Given the description of an element on the screen output the (x, y) to click on. 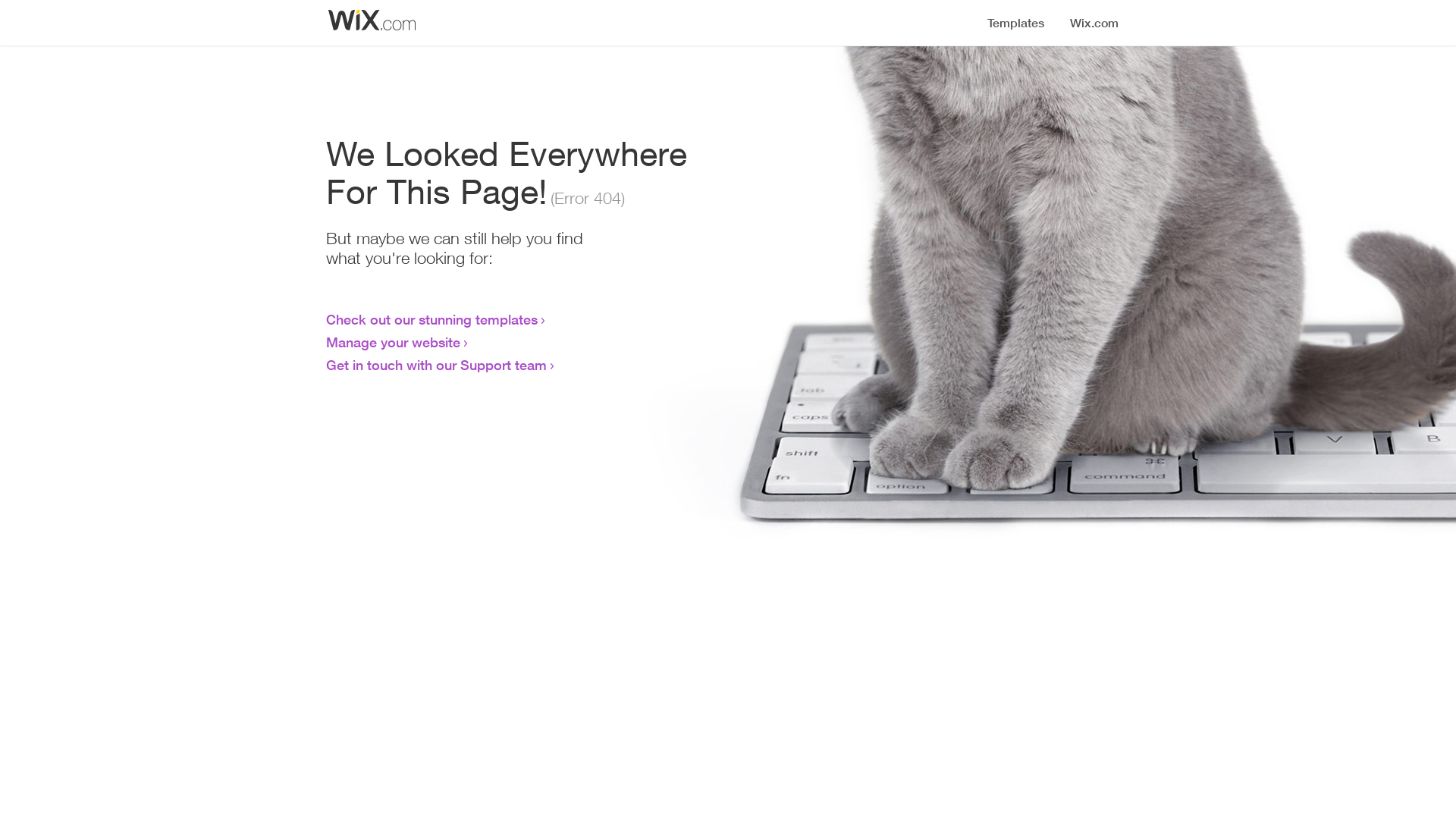
Get in touch with our Support team Element type: text (436, 364)
Check out our stunning templates Element type: text (431, 318)
Manage your website Element type: text (393, 341)
